Given the description of an element on the screen output the (x, y) to click on. 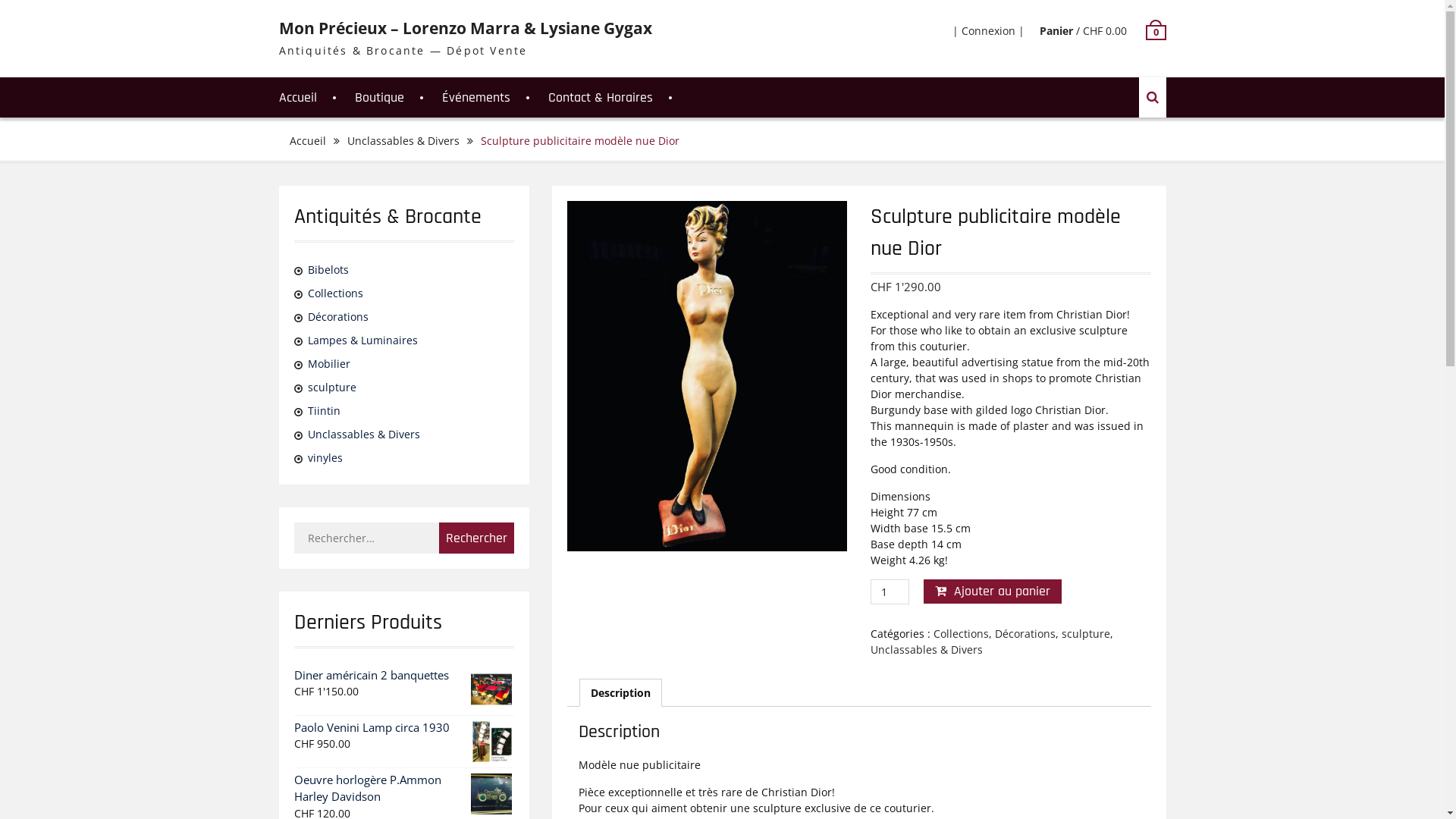
Lampes & Luminaires Element type: text (362, 339)
Accueil Element type: text (307, 140)
Panier / CHF 0.00 Element type: text (1082, 30)
Tiintin Element type: text (323, 410)
Accueil Element type: text (297, 97)
Bibelots Element type: text (327, 269)
Unclassables & Divers Element type: text (403, 140)
vinyles Element type: text (324, 457)
sculpture Element type: text (1085, 633)
Collections Element type: text (335, 292)
Mobilier Element type: text (328, 363)
CCD094FC-71A9-4ACF-86FB-BC2F1686AC51_1_105_c Element type: hover (707, 375)
Unclassables & Divers Element type: text (926, 649)
sculpture Element type: text (331, 386)
Boutique Element type: text (379, 97)
Collections Element type: text (960, 633)
Ajouter au panier Element type: text (992, 591)
Unclassables & Divers Element type: text (363, 433)
Paolo Venini Lamp circa 1930 Element type: text (404, 727)
| Connexion | Element type: text (988, 30)
Description Element type: text (619, 692)
Rechercher Element type: text (475, 537)
Contact & Horaires Element type: text (599, 97)
